Given the description of an element on the screen output the (x, y) to click on. 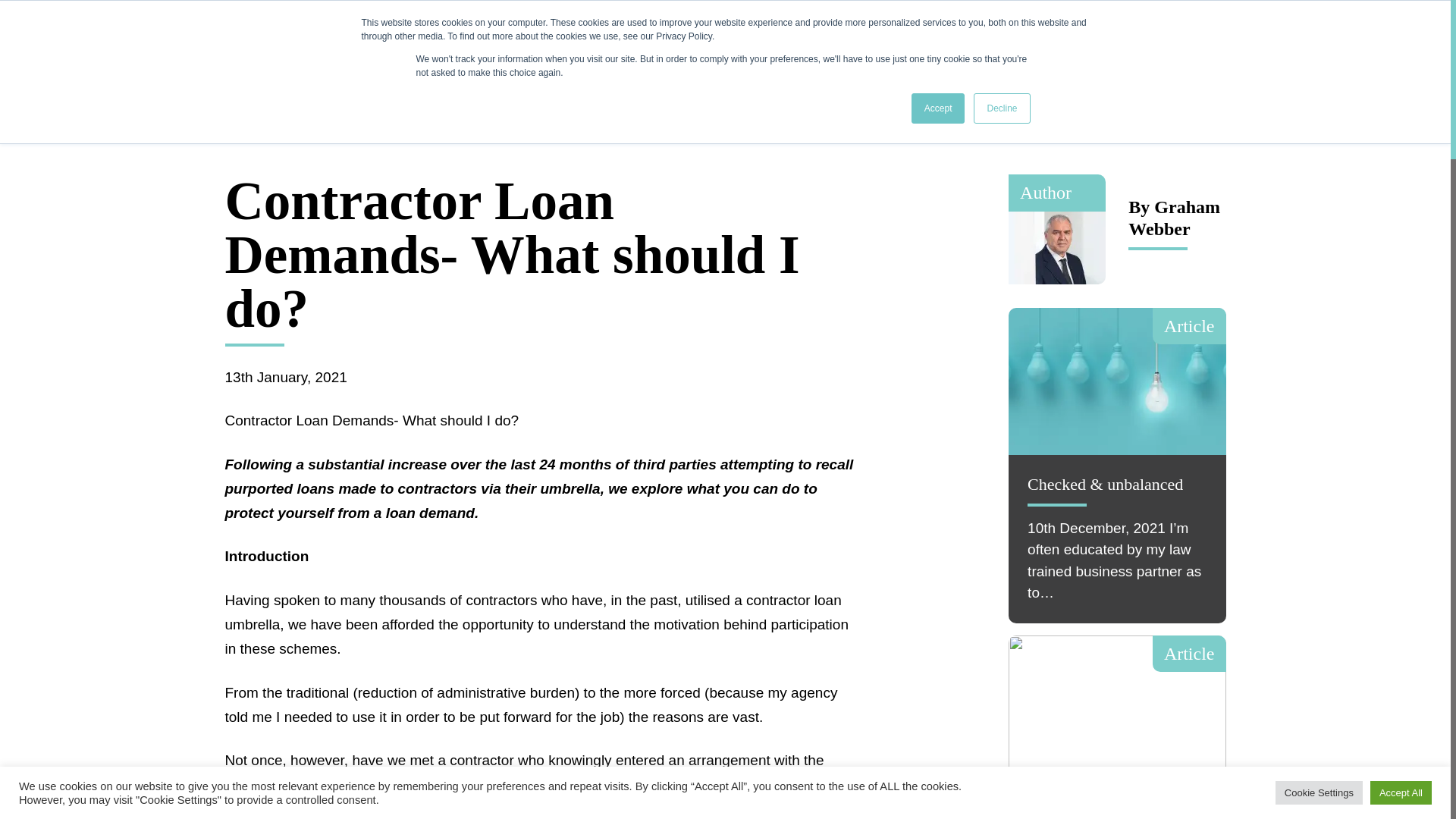
Services (430, 34)
Accept (938, 108)
Tax Resources (618, 34)
About Us (341, 34)
Contact Us (1157, 34)
Decline (1001, 108)
Crypto Tax- What can we learn from the US? (1117, 810)
Insights (516, 34)
Article (1117, 708)
Article (1117, 381)
